Given the description of an element on the screen output the (x, y) to click on. 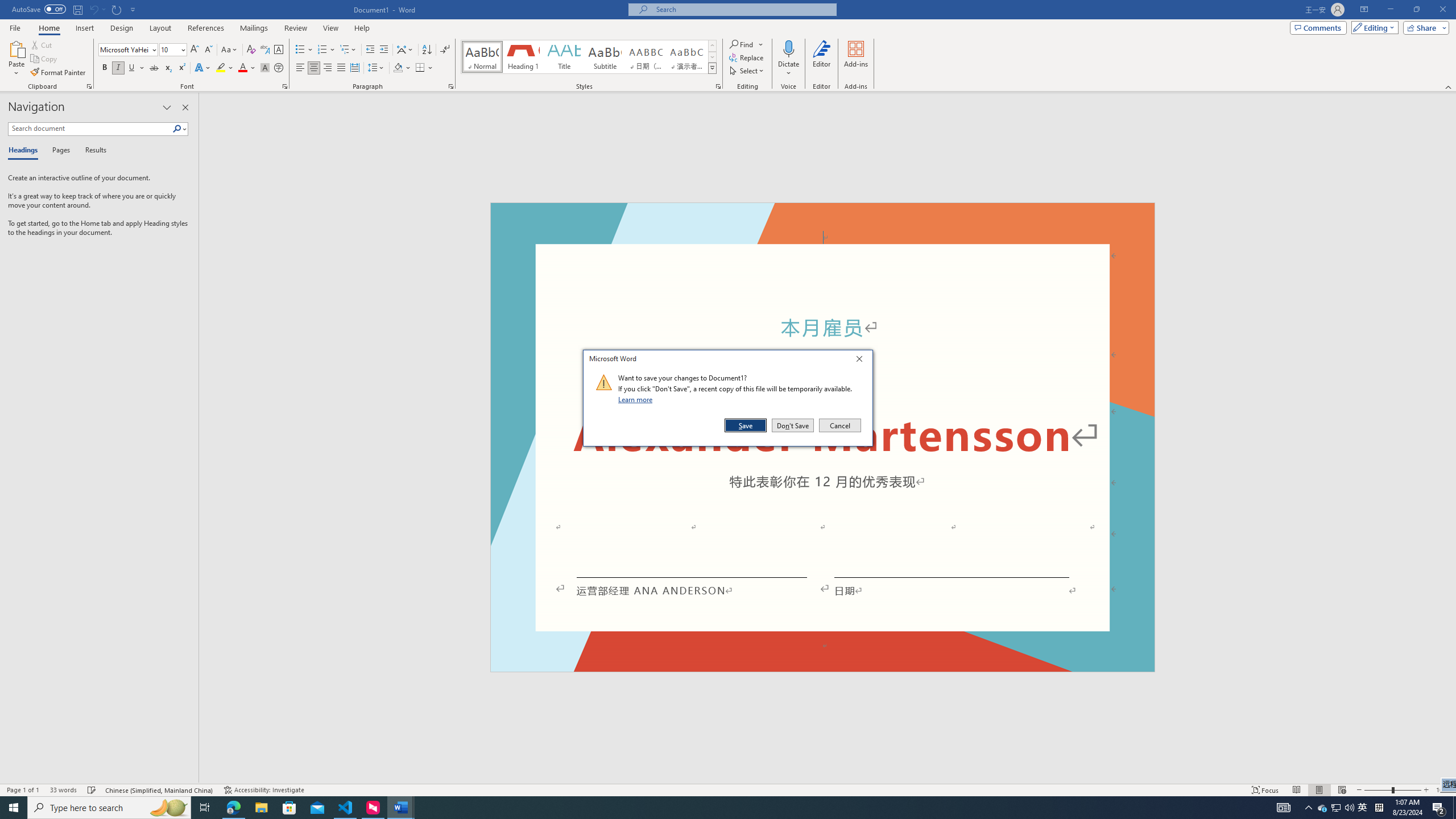
Zoom 104% (1443, 790)
Can't Undo (92, 9)
